Given the description of an element on the screen output the (x, y) to click on. 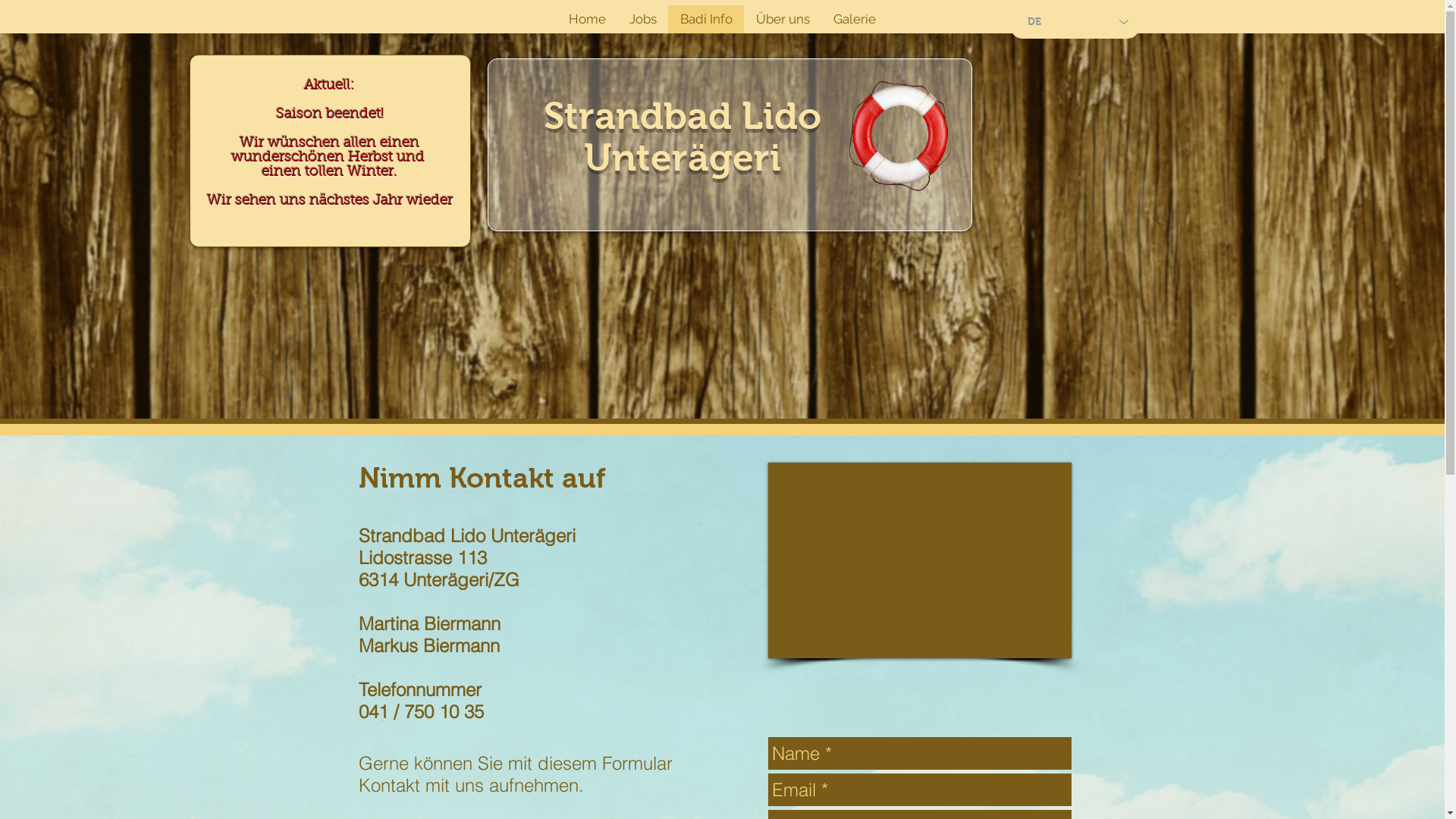
Home Element type: text (586, 19)
Jobs Element type: text (642, 19)
Google Maps Element type: hover (918, 560)
Embedded Content Element type: hover (1086, 112)
Galerie Element type: text (854, 19)
Embedded Content Element type: hover (1086, 355)
Badi Info Element type: text (705, 19)
